Given the description of an element on the screen output the (x, y) to click on. 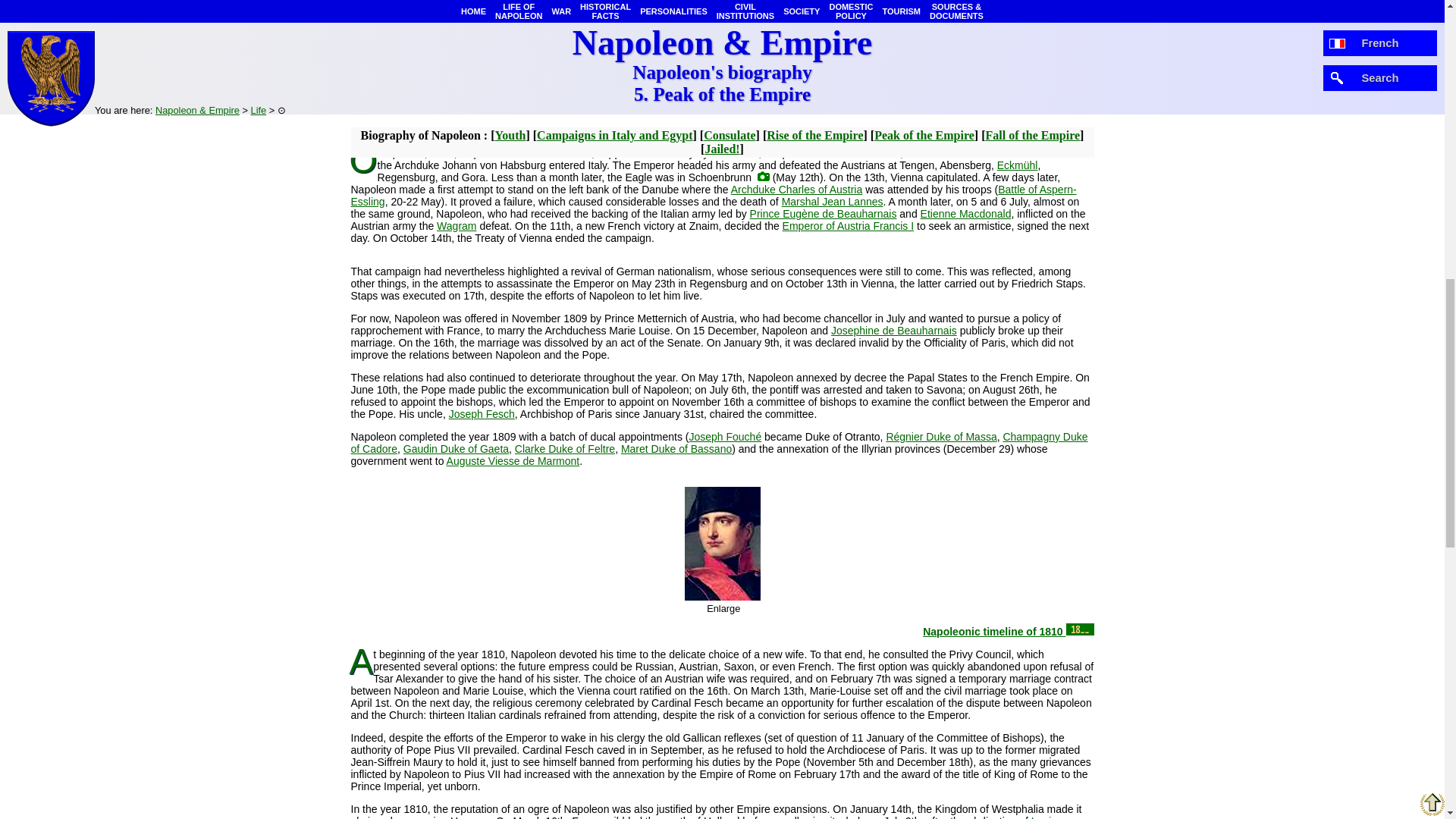
Napoleonic timeline of 1809 (1008, 130)
Clarke Duke of Feltre (564, 449)
Napoleonic timeline of 1810 (1008, 631)
Josephine de Beauharnais (893, 330)
Gaudin Duke of Gaeta (455, 449)
Joseph Fesch (481, 413)
Marshal Jean Lannes (832, 201)
Etienne Macdonald (965, 214)
Wagram (456, 225)
Emperor of Austria Francis I (848, 225)
Archduke Charles of Austria (796, 189)
Champagny Duke of Cadore (718, 442)
Auguste Viesse de Marmont (512, 460)
Maret Duke of Bassano (676, 449)
